Given the description of an element on the screen output the (x, y) to click on. 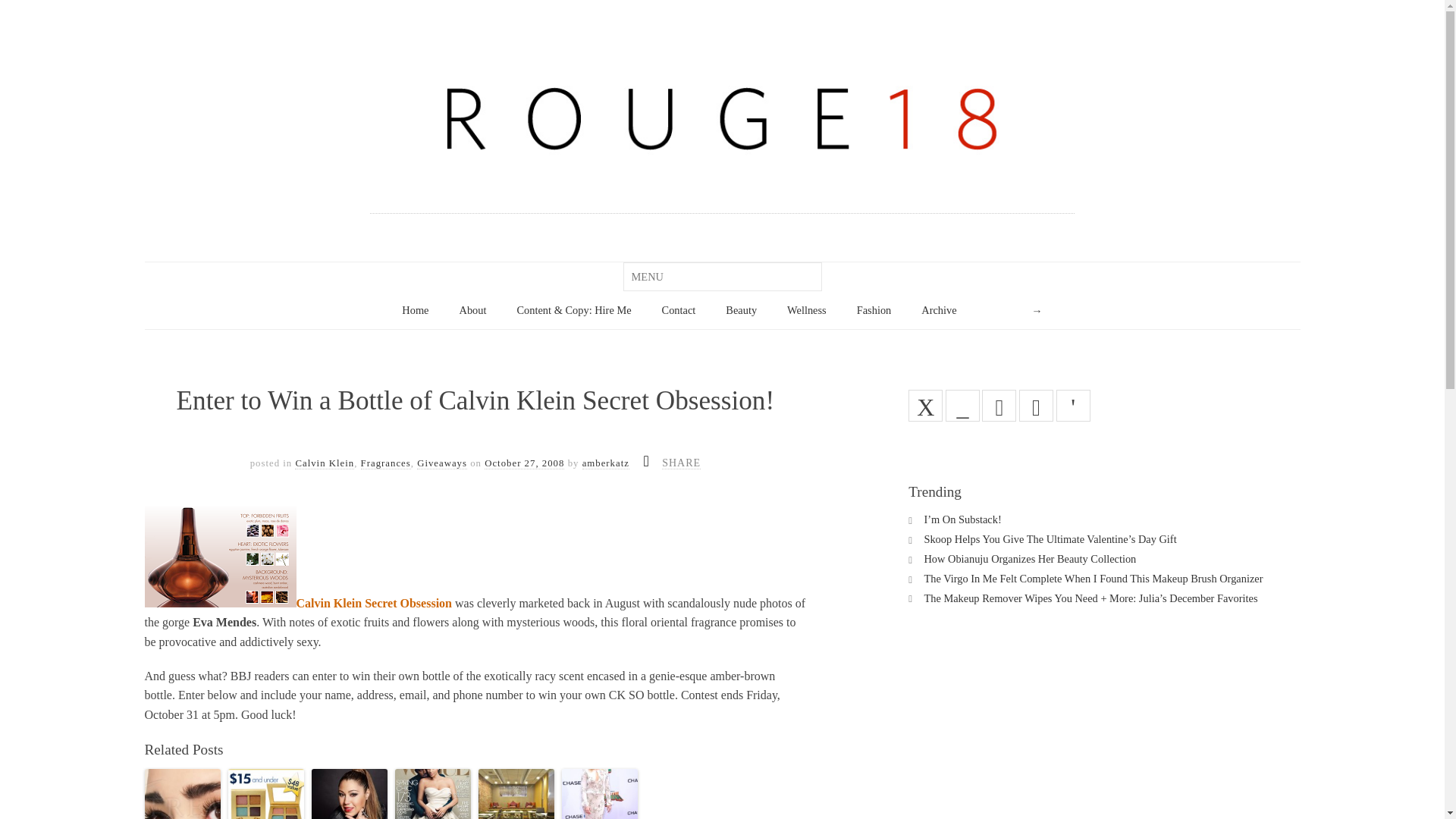
About (473, 310)
Fashion (874, 310)
Enter keyword (1014, 310)
Fragrances (385, 463)
Calvin Klein (324, 463)
View all posts by amberkatz (605, 463)
Beauty (741, 310)
Home (414, 310)
Calvin Klein Secret Obsession (373, 603)
amberkatz (605, 463)
Wellness (807, 310)
Archive (938, 310)
SHARE (681, 463)
Giveaways (441, 463)
October 27, 2008 (524, 463)
